Given the description of an element on the screen output the (x, y) to click on. 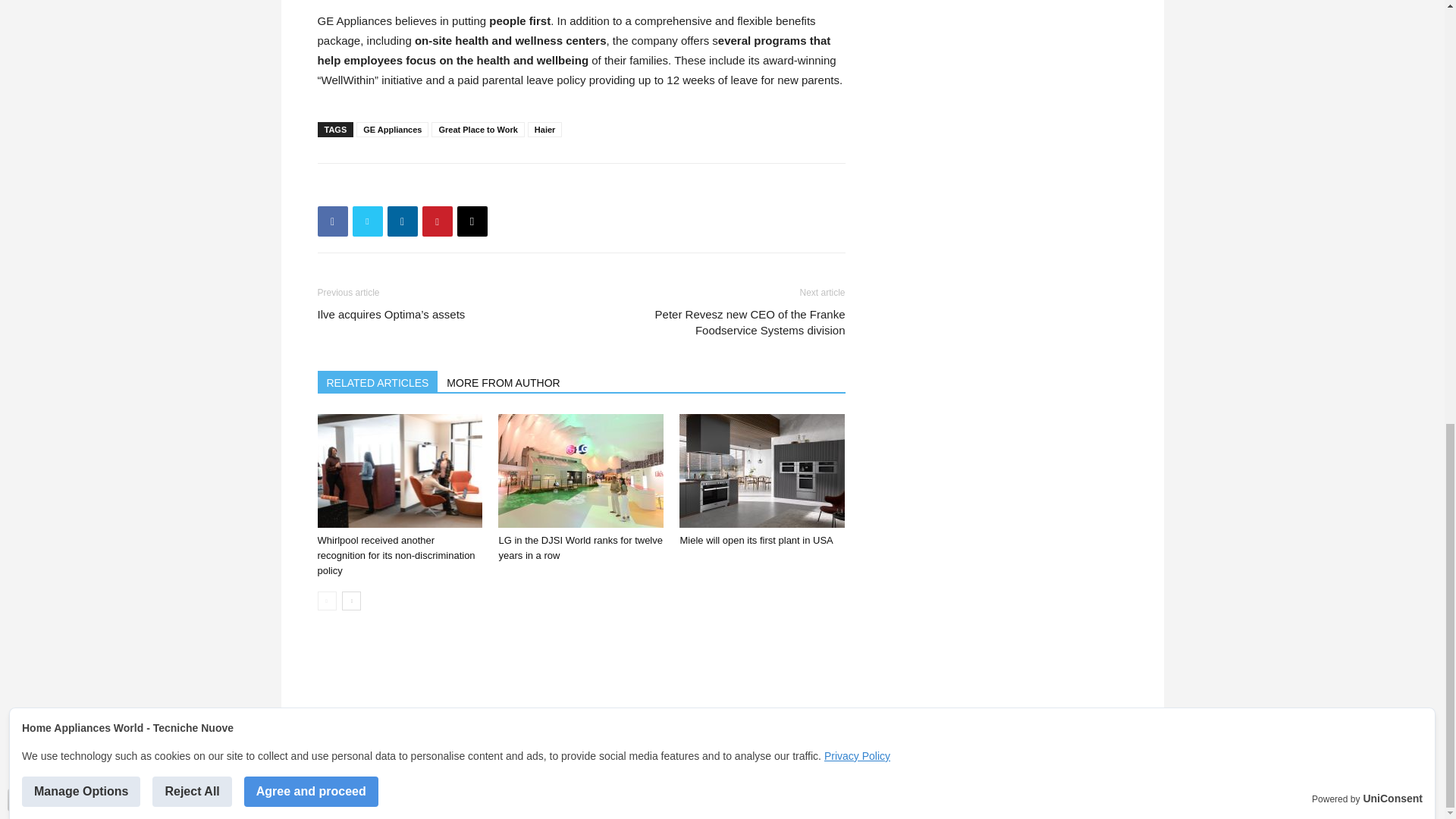
LG in the DJSI World ranks for twelve years in a row (579, 547)
Miele will open its first plant in USA (761, 470)
Miele will open its first plant in USA (755, 540)
LG in the DJSI World ranks for twelve years in a row (580, 470)
